Given the description of an element on the screen output the (x, y) to click on. 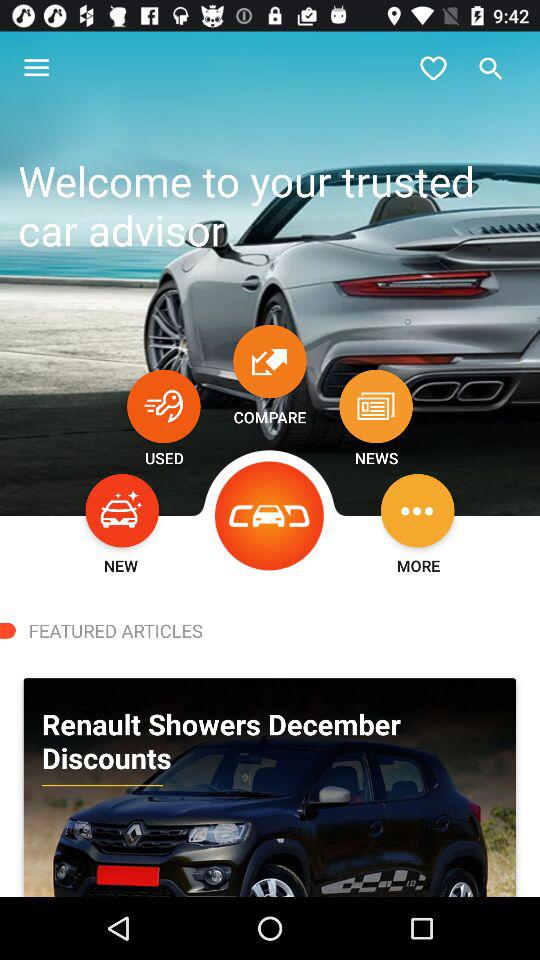
press the icon above the more (417, 510)
